Given the description of an element on the screen output the (x, y) to click on. 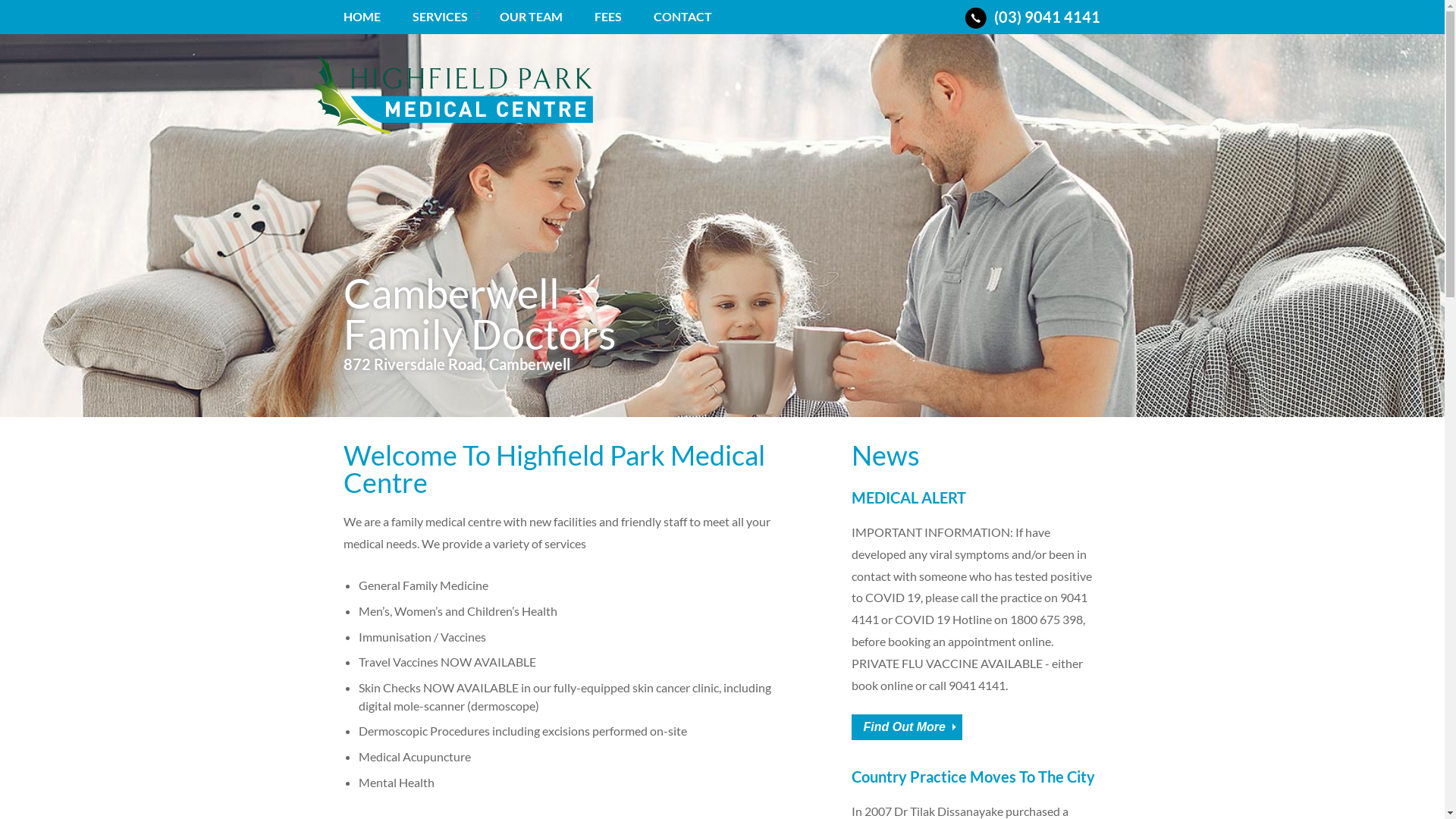
Find Out More Element type: text (905, 727)
CONTACT Element type: text (678, 22)
OUR TEAM Element type: text (530, 22)
FEES Element type: text (607, 22)
SERVICES Element type: text (439, 22)
HOME Element type: text (365, 22)
